Given the description of an element on the screen output the (x, y) to click on. 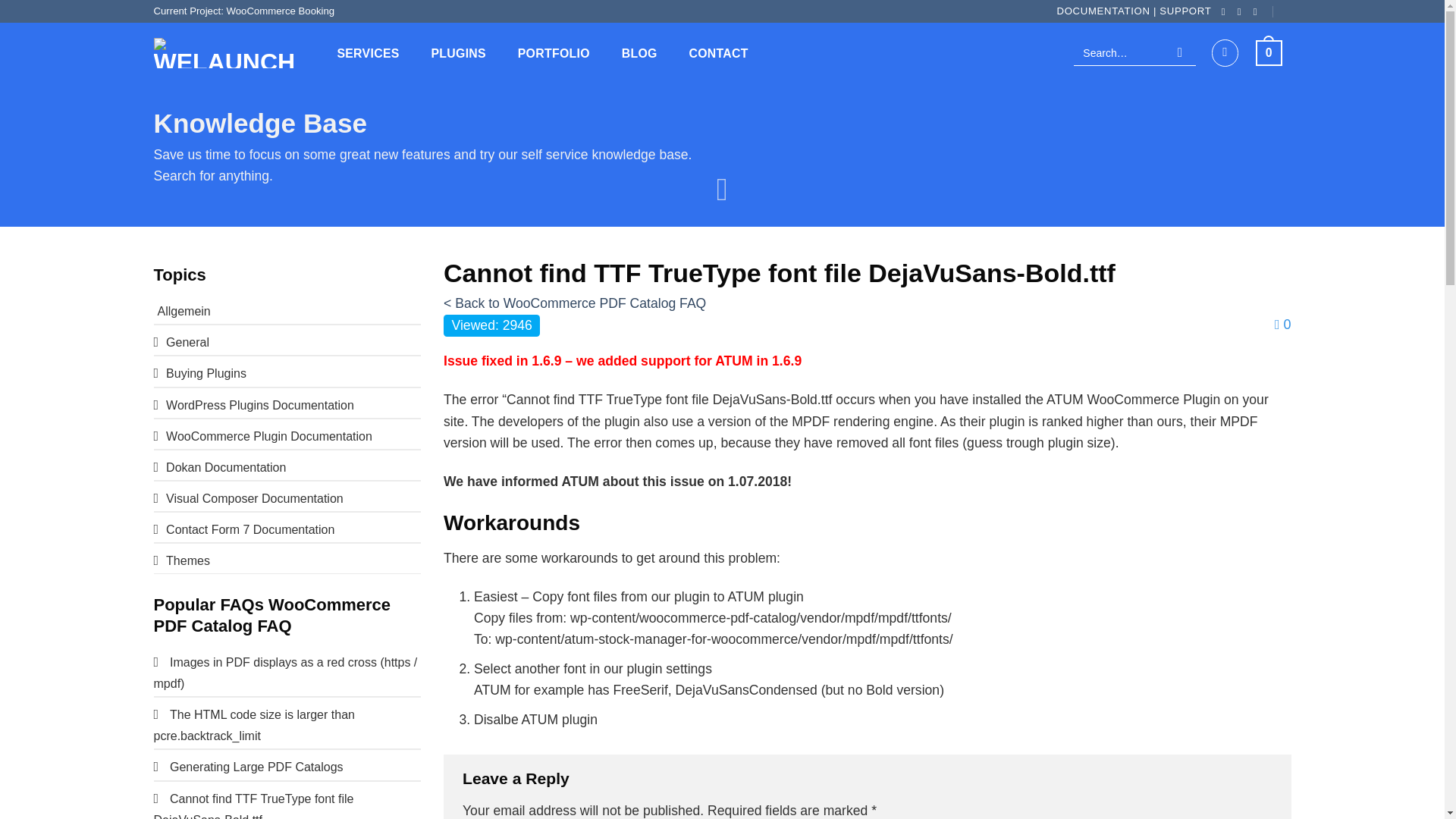
Visual Composer Documentation (247, 498)
PORTFOLIO (553, 53)
SERVICES (367, 53)
CONTACT (718, 53)
WooCommerce Plugin Documentation (261, 436)
WordPress Plugins Documentation (252, 404)
DOCUMENTATION (1103, 10)
Contact Form 7 Documentation (243, 529)
0 (1268, 52)
